Given the description of an element on the screen output the (x, y) to click on. 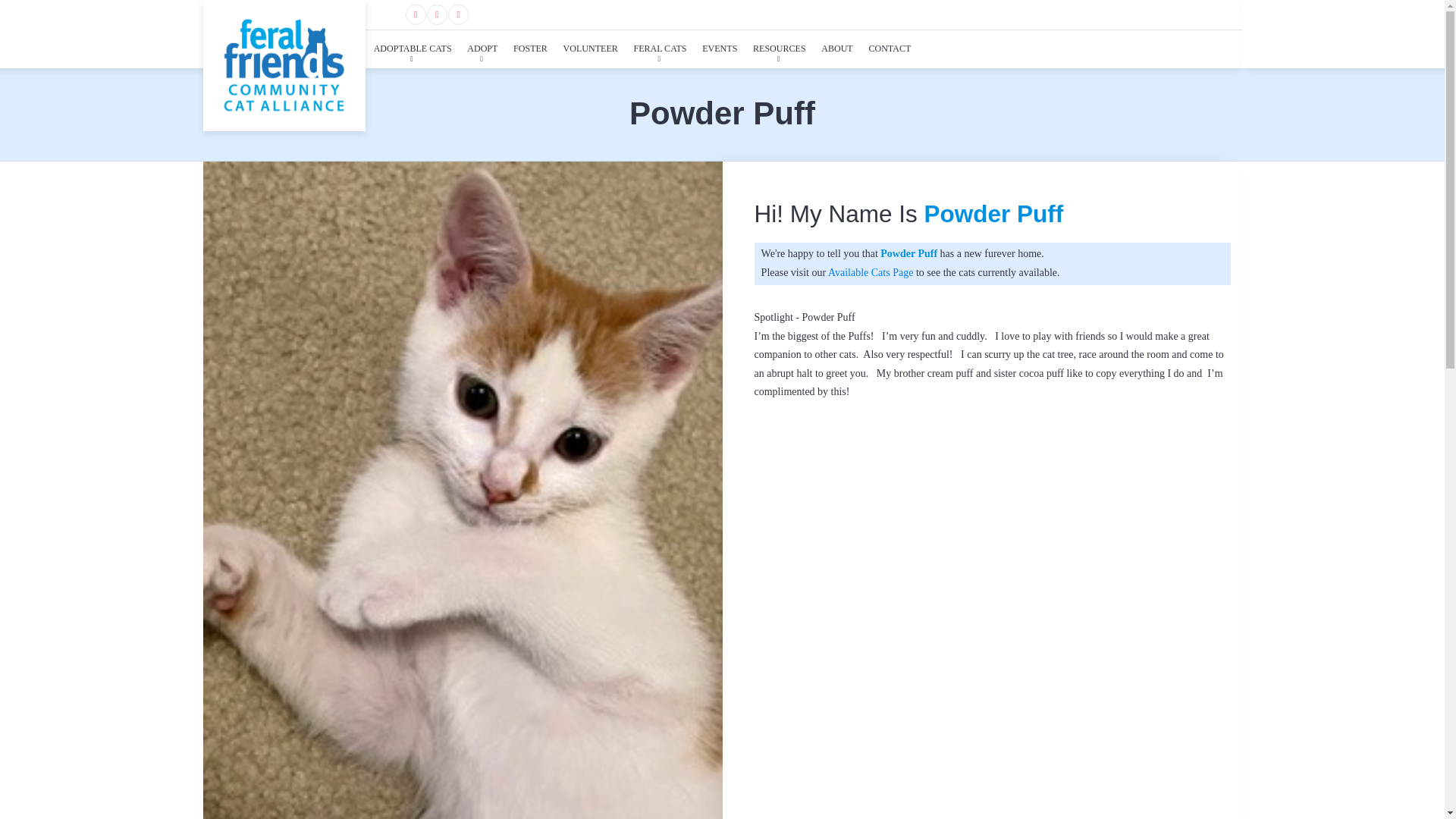
Follow Us on Twitter (436, 14)
Available Cats Page (871, 272)
FERAL CATS (660, 48)
Follow Us on Facebook (416, 14)
Donate (1203, 14)
RESOURCES (779, 48)
FOSTER (529, 48)
Feral Friends Community Cat Alliance (283, 65)
CONTACT (889, 48)
DONATE (1203, 14)
